Given the description of an element on the screen output the (x, y) to click on. 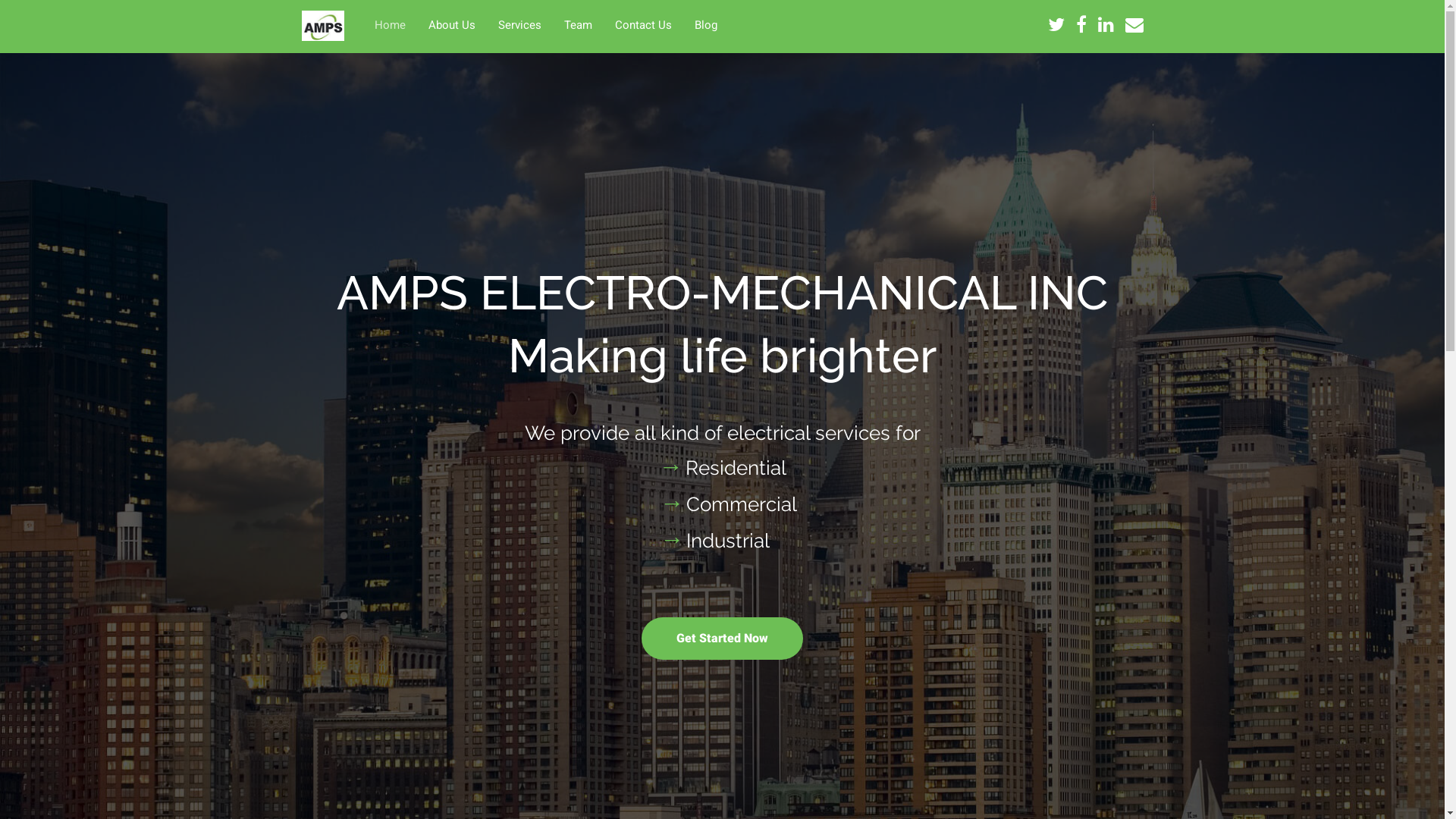
Get Started Now Element type: text (722, 638)
Services Element type: text (519, 23)
Home Element type: text (390, 23)
Team Element type: text (577, 23)
Blog Element type: text (705, 23)
Contact Us Element type: text (643, 23)
About Us Element type: text (451, 23)
AMPS ELECTRO-MECHANICAL INC Element type: hover (323, 25)
